Given the description of an element on the screen output the (x, y) to click on. 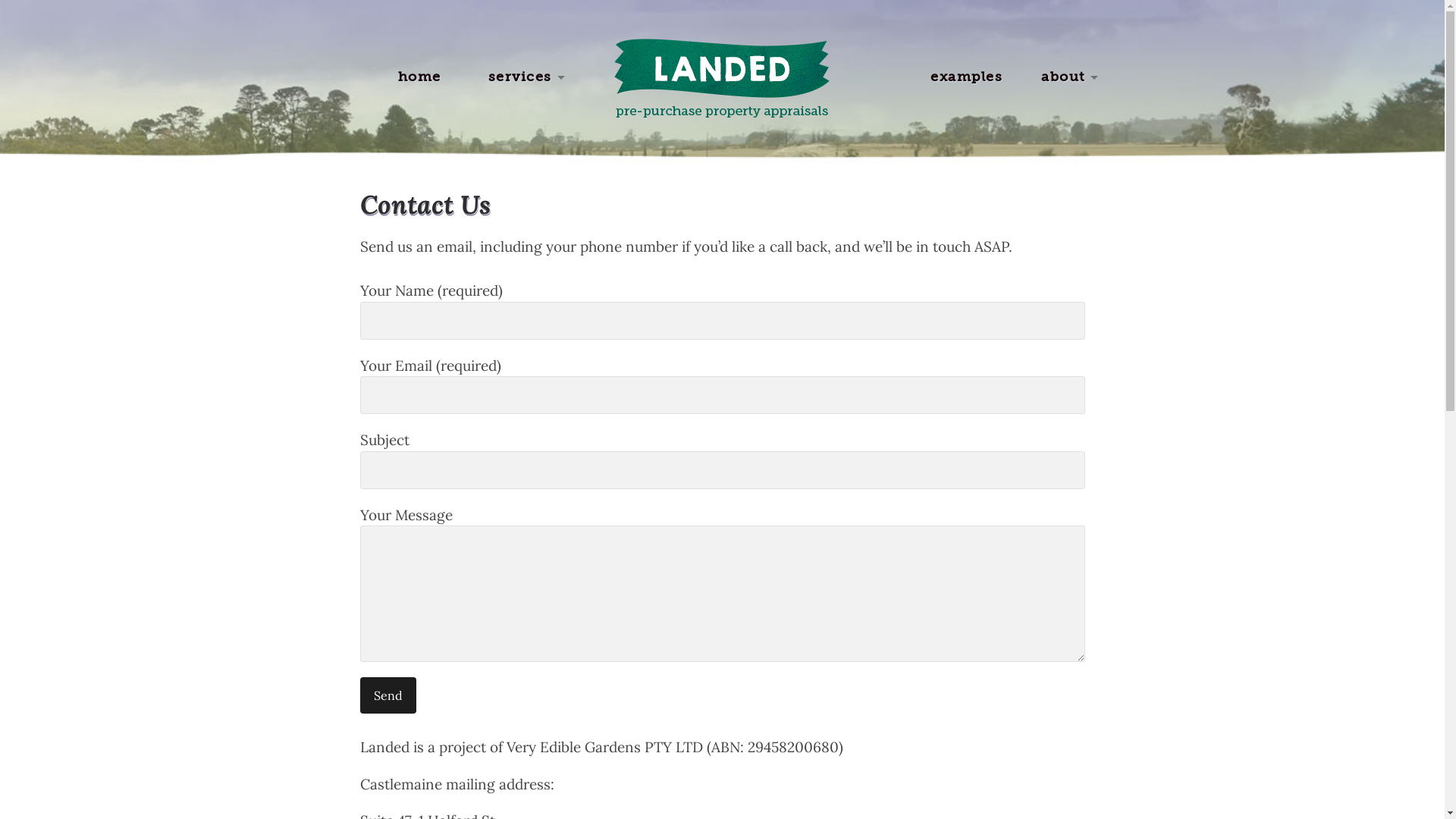
examples Element type: text (966, 76)
Send Element type: text (387, 695)
services Element type: text (520, 76)
home Element type: text (418, 76)
about Element type: text (1063, 76)
